Given the description of an element on the screen output the (x, y) to click on. 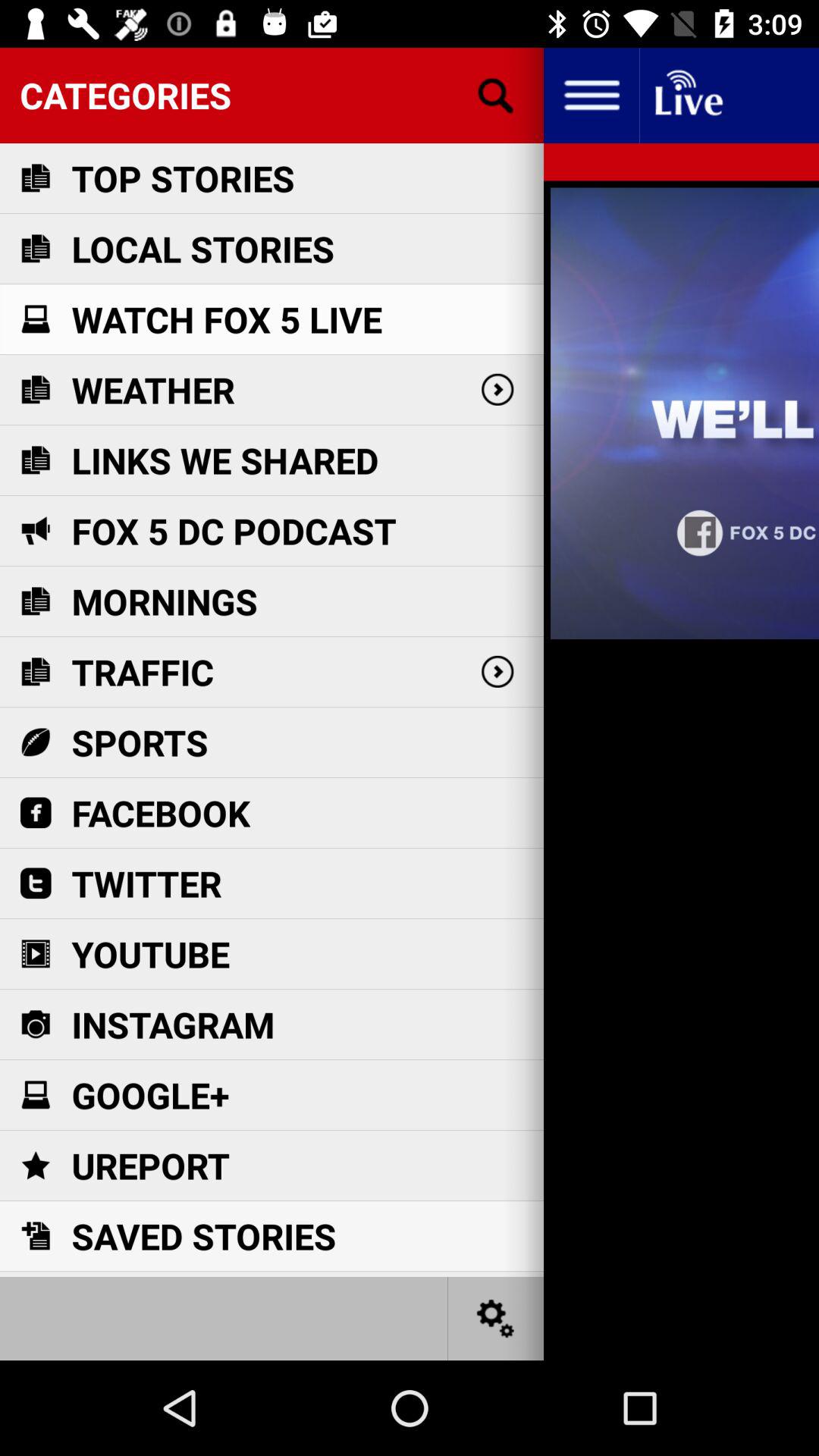
press item below mornings item (142, 671)
